Given the description of an element on the screen output the (x, y) to click on. 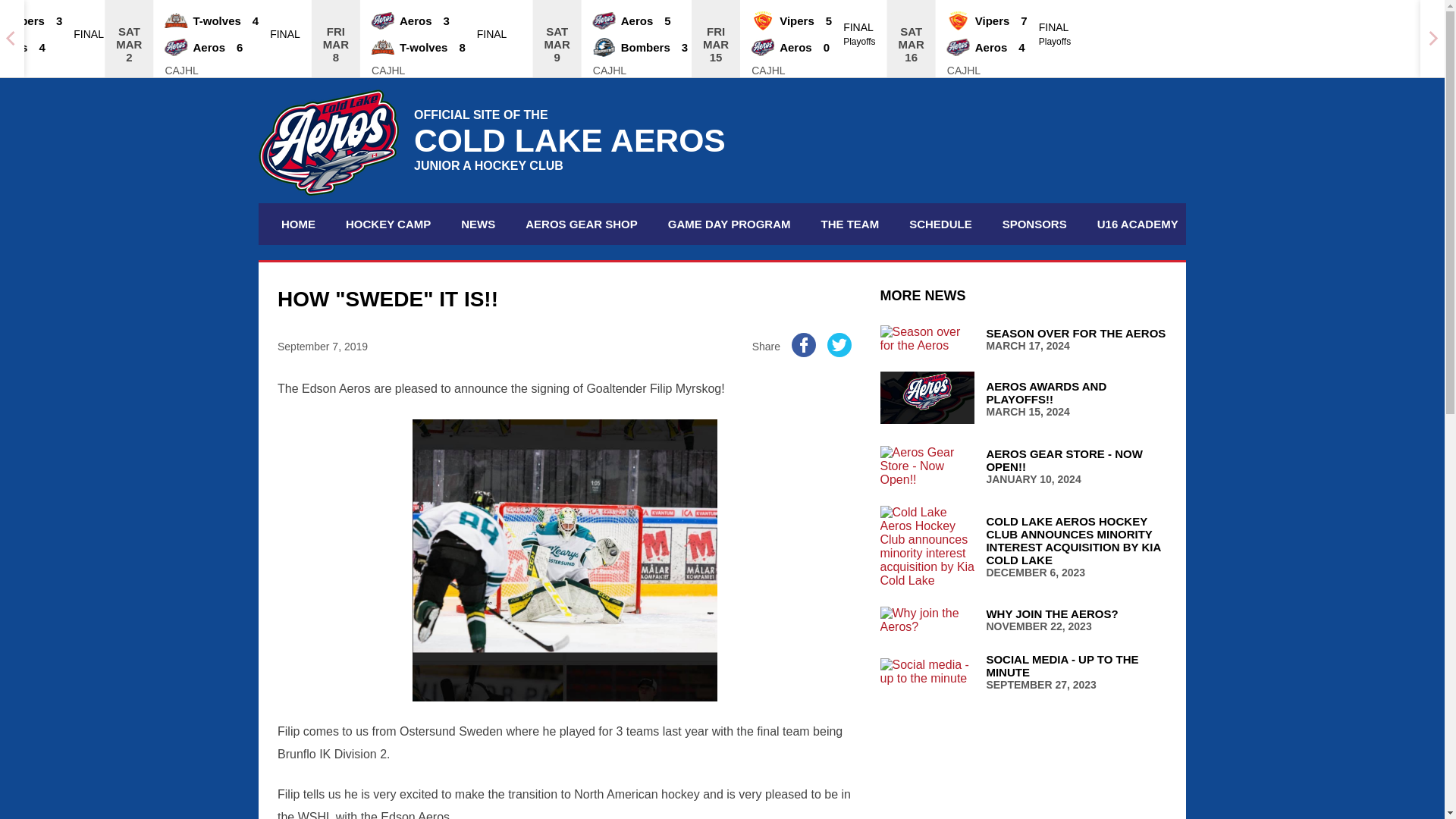
SPONSORS (1023, 398)
HOCKEY CAMP (1034, 223)
HOME (388, 223)
U16 ACADEMY (1023, 465)
GAME DAY PROGRAM (297, 223)
NEWS (1137, 223)
AEROS GEAR SHOP (729, 223)
